Given the description of an element on the screen output the (x, y) to click on. 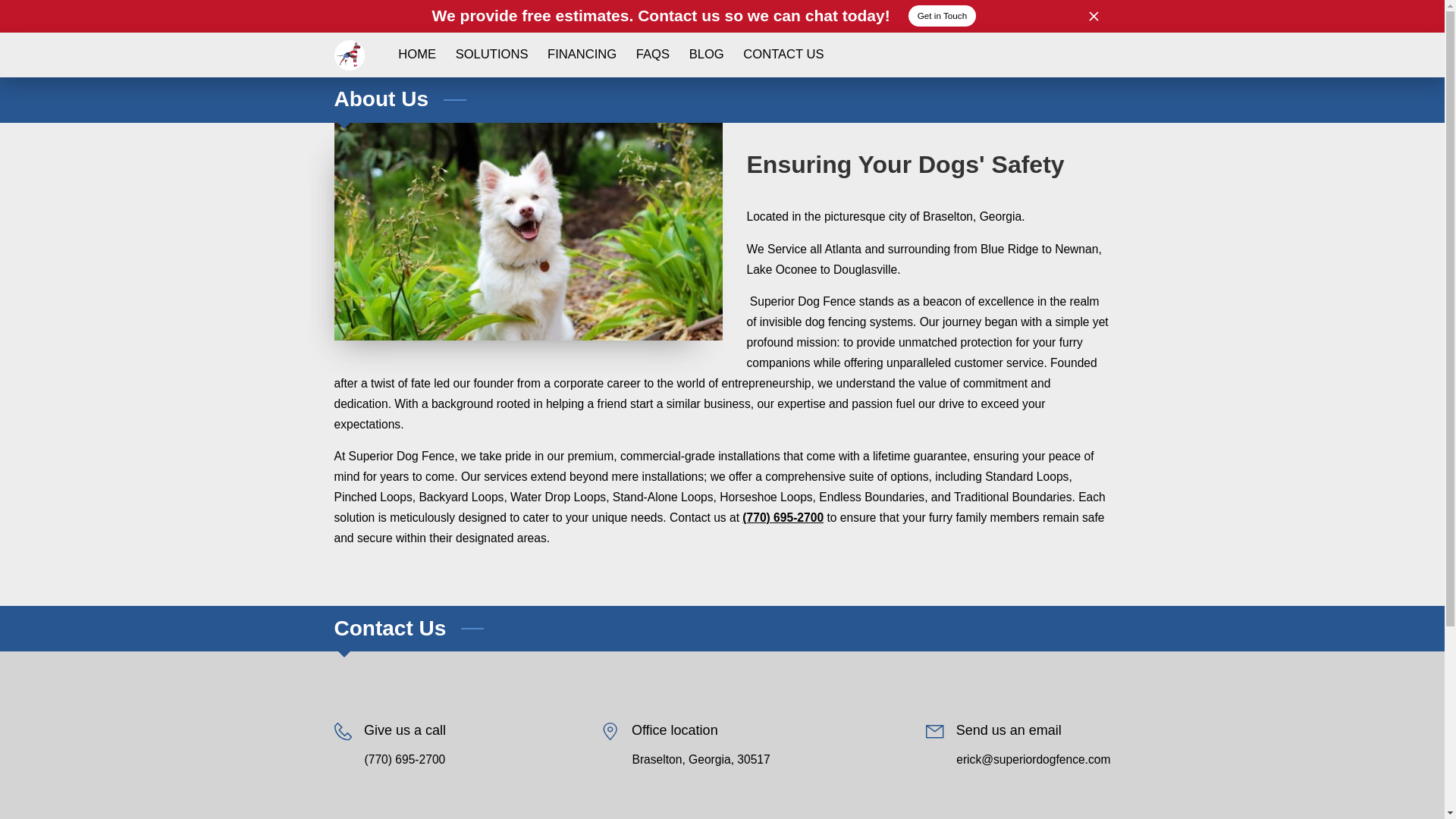
FAQS (652, 54)
FINANCING (581, 54)
CONTACT US (783, 54)
Braselton, Georgia, 30517 (700, 759)
SOLUTIONS (491, 54)
Get in Touch (942, 15)
HOME (416, 54)
BLOG (706, 54)
